Given the description of an element on the screen output the (x, y) to click on. 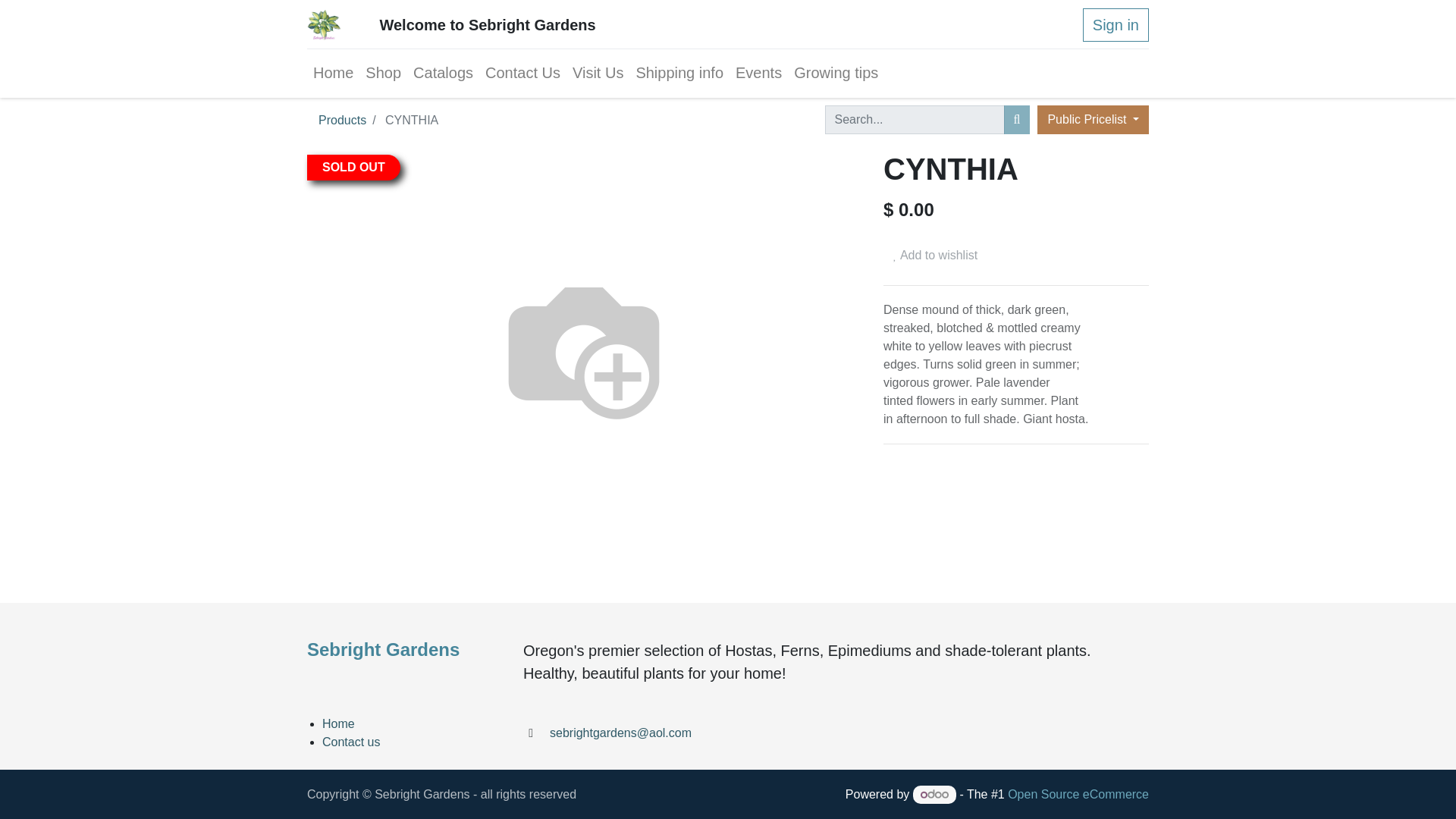
Shop (383, 72)
Products (342, 119)
Sign in (1115, 24)
Public Pricelist (1092, 119)
Events (758, 72)
Shipping info (678, 72)
Add to wishlist (935, 255)
Home (333, 72)
Sebright Gardens (323, 24)
Search (1017, 119)
Growing tips (835, 72)
Catalogs (443, 72)
Visit Us (597, 72)
Contact Us (522, 72)
Contact us (350, 741)
